Given the description of an element on the screen output the (x, y) to click on. 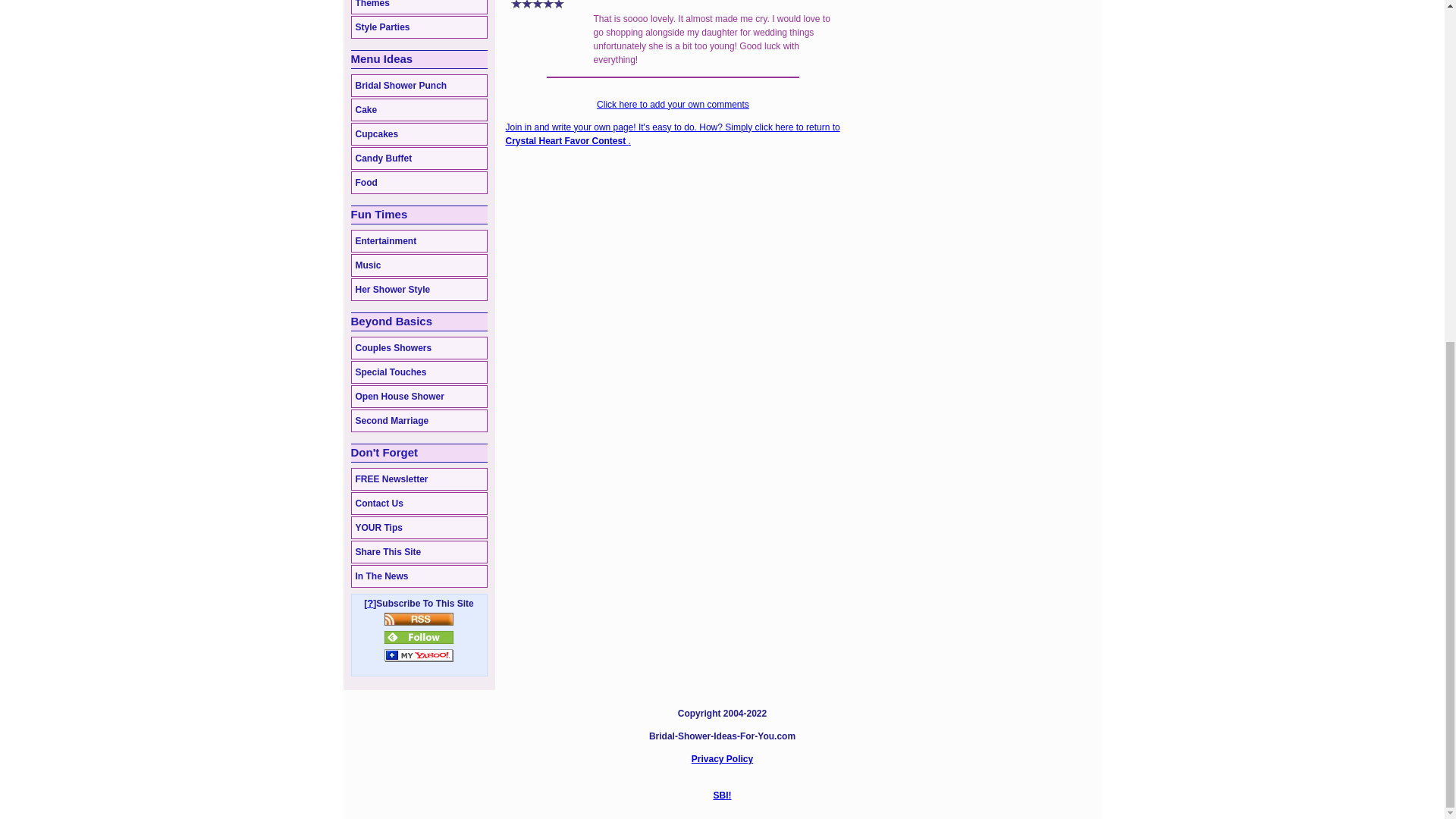
In The News (418, 576)
YOUR Tips (418, 527)
Candy Buffet (418, 158)
Music (418, 264)
Couples Showers (418, 347)
Her Shower Style (418, 289)
Food (418, 182)
Entertainment (418, 241)
Open House Shower (418, 395)
Share This Site (418, 551)
Style Parties (418, 26)
FREE Newsletter (418, 478)
Cake (418, 109)
Click here to add your own comments (672, 104)
